Given the description of an element on the screen output the (x, y) to click on. 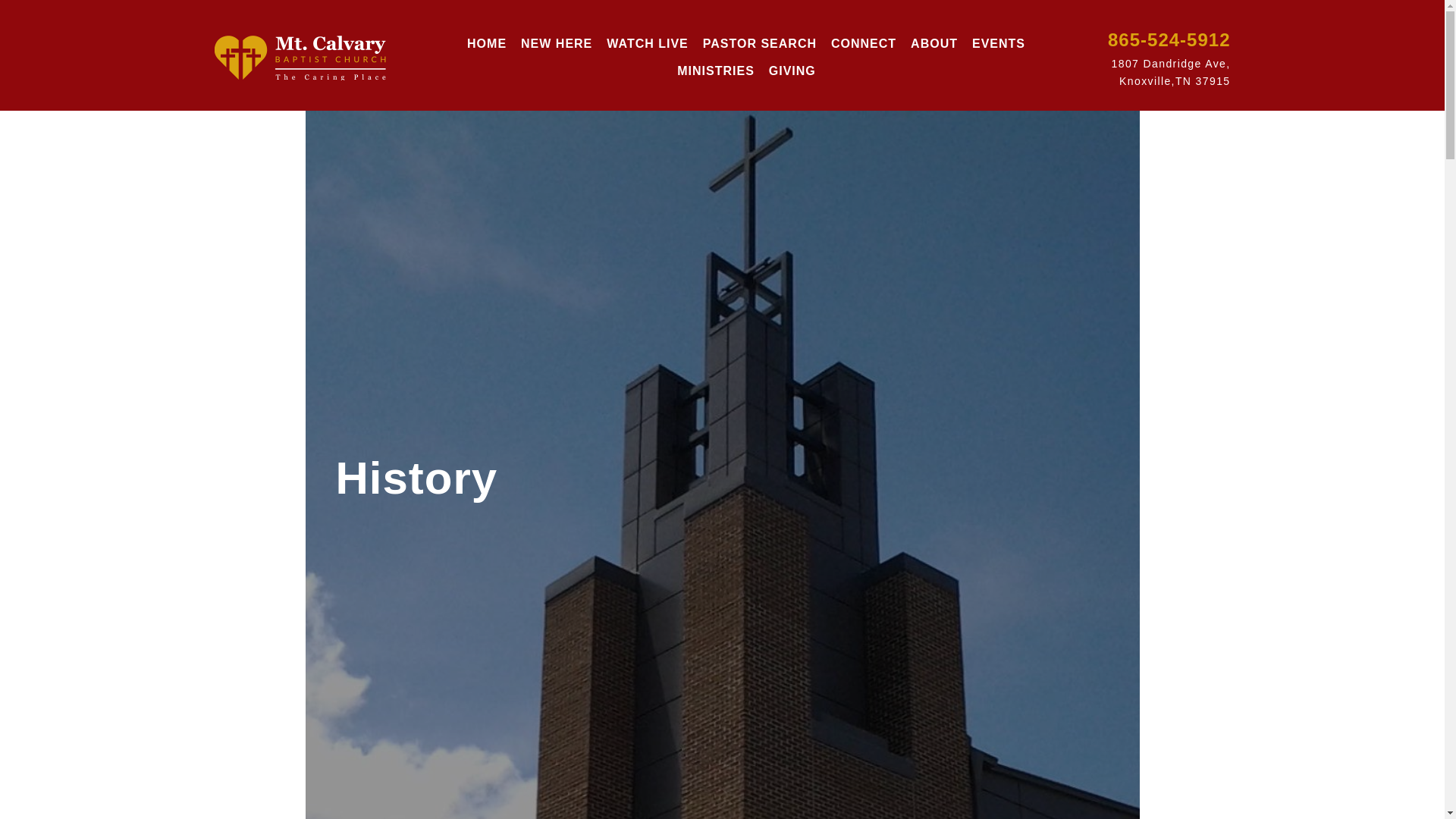
EVENTS (998, 43)
CONNECT (863, 43)
NEW HERE (555, 43)
865-524-5912 (1169, 39)
ABOUT (933, 43)
WATCH LIVE (646, 43)
MINISTRIES (715, 71)
HOME (486, 43)
PASTOR SEARCH (759, 43)
